Given the description of an element on the screen output the (x, y) to click on. 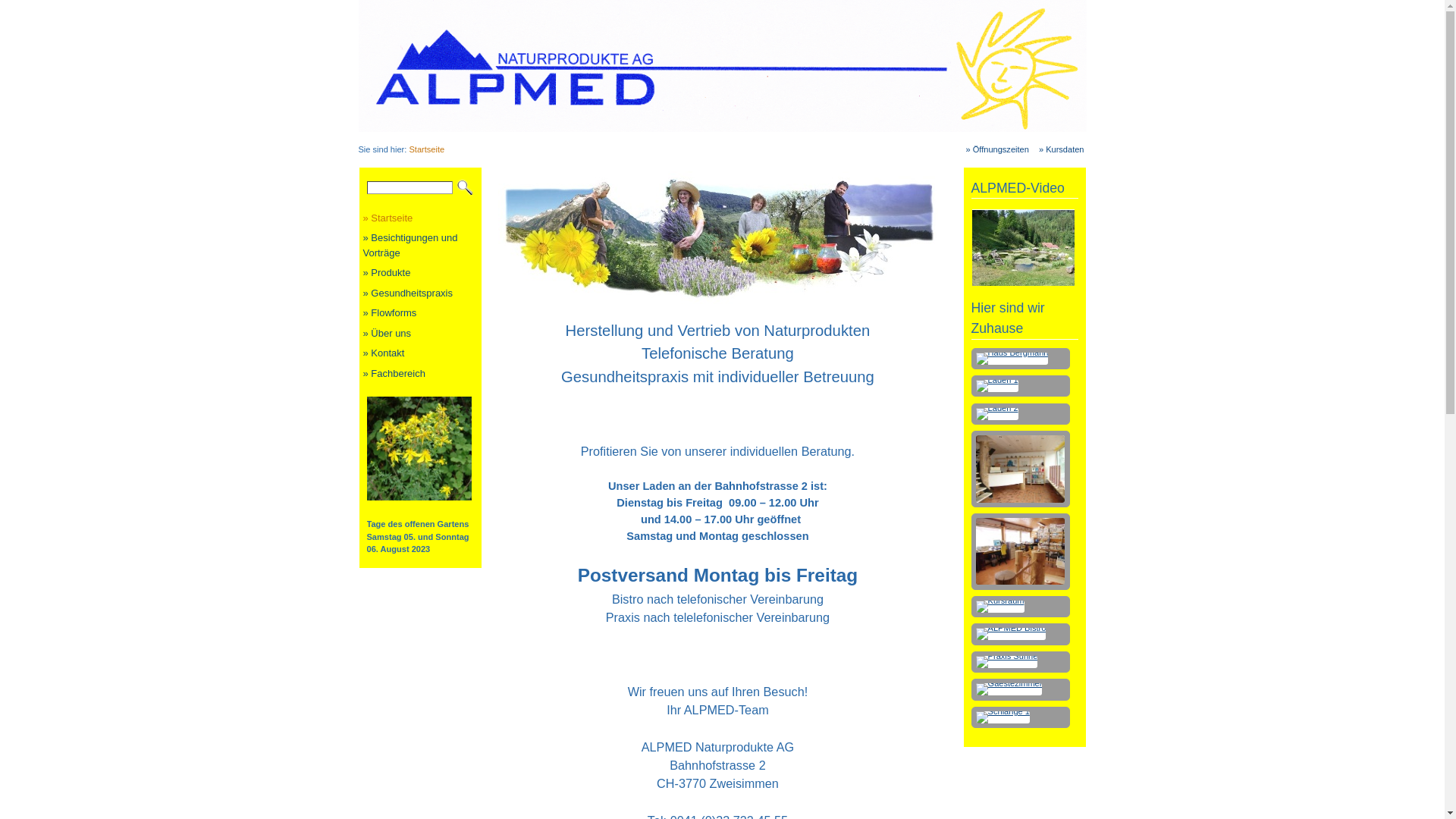
Gaestezimmer Element type: hover (1008, 689)
Laden 1 Element type: hover (1020, 385)
1015-rect_green.png Element type: hover (419, 448)
Laden 1 Element type: hover (996, 385)
Praxis Sunne Element type: hover (1006, 661)
Ihr Logo hier Element type: hover (721, 65)
Laden 3 Element type: hover (1020, 468)
Kursraum Element type: hover (999, 606)
Versandraum Element type: hover (1020, 551)
Haus Bergmann Element type: hover (1020, 358)
Haus Bergmann Element type: hover (1011, 358)
Praxis Sunne Element type: hover (1020, 661)
Gaestezimmer Element type: hover (1020, 689)
ALPMED Bistro Element type: hover (1020, 633)
Laden 2 Element type: hover (996, 413)
ALPMED Bistro Element type: hover (1010, 633)
Laden 2 Element type: hover (1020, 413)
Schlange 1 Element type: hover (1002, 717)
Versandraum Element type: hover (1020, 550)
Startseite Element type: text (426, 148)
Kursraum Element type: hover (1020, 606)
Laden 3 Element type: hover (1020, 468)
Schlange 1 Element type: hover (1020, 717)
Alpmed Web 1 Element type: hover (720, 237)
